Given the description of an element on the screen output the (x, y) to click on. 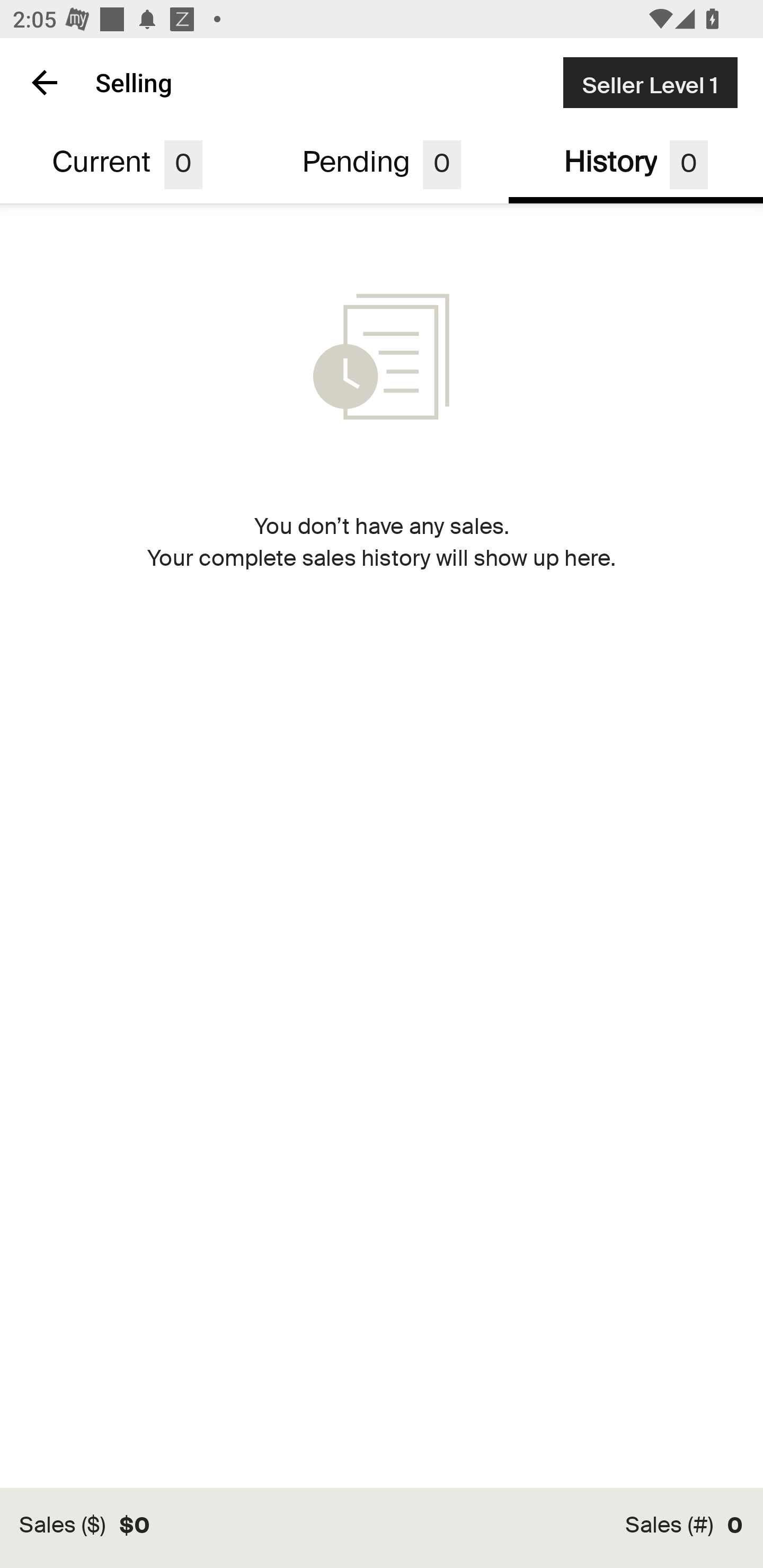
Navigate up (44, 82)
Seller Level 1 (650, 82)
Current 0 (127, 165)
Pending 0 (381, 165)
